Given the description of an element on the screen output the (x, y) to click on. 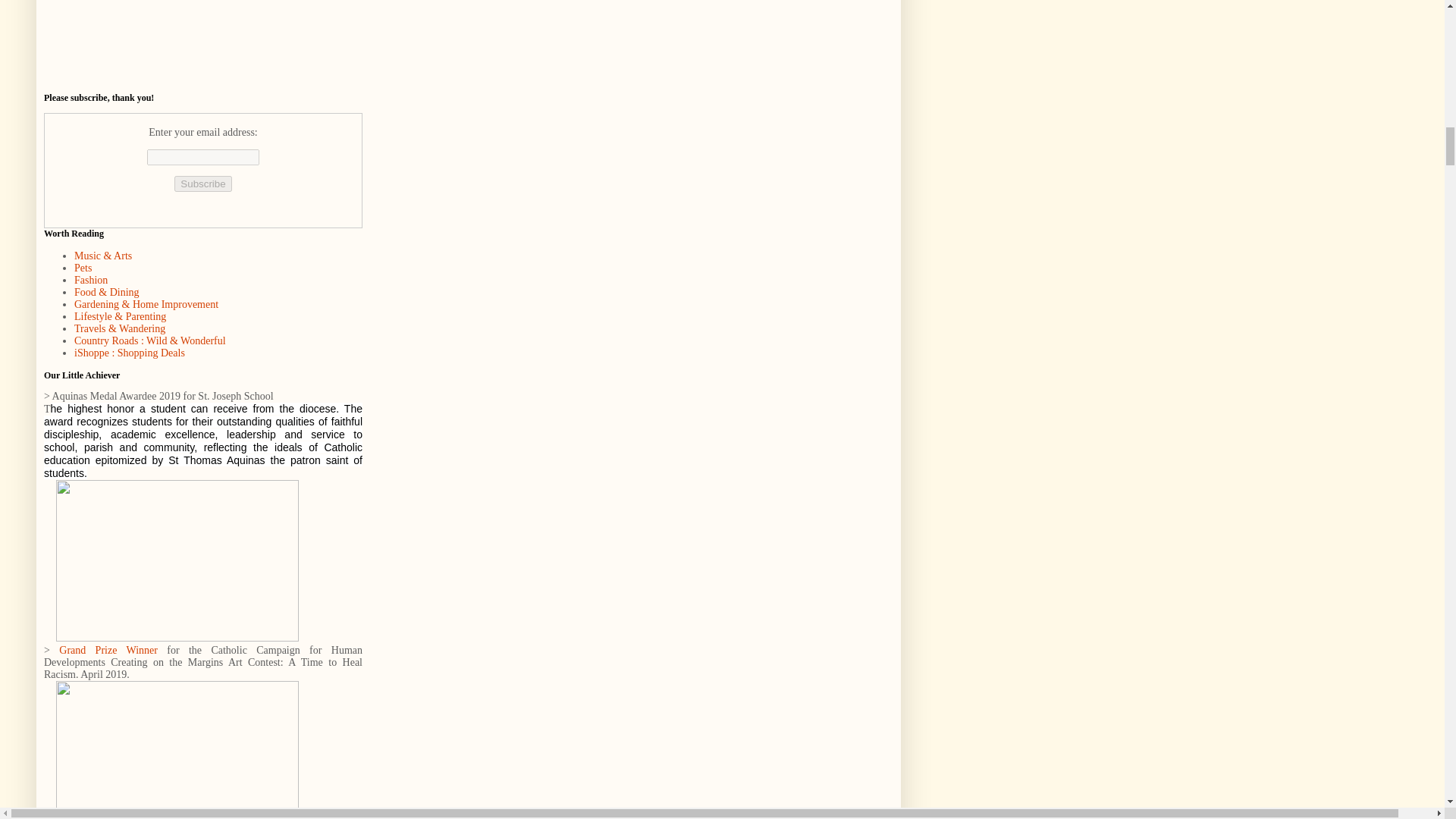
Pets (82, 267)
Fashion (90, 279)
Subscribe (202, 183)
iShoppe : Shopping Deals (129, 352)
Subscribe (202, 183)
